Given the description of an element on the screen output the (x, y) to click on. 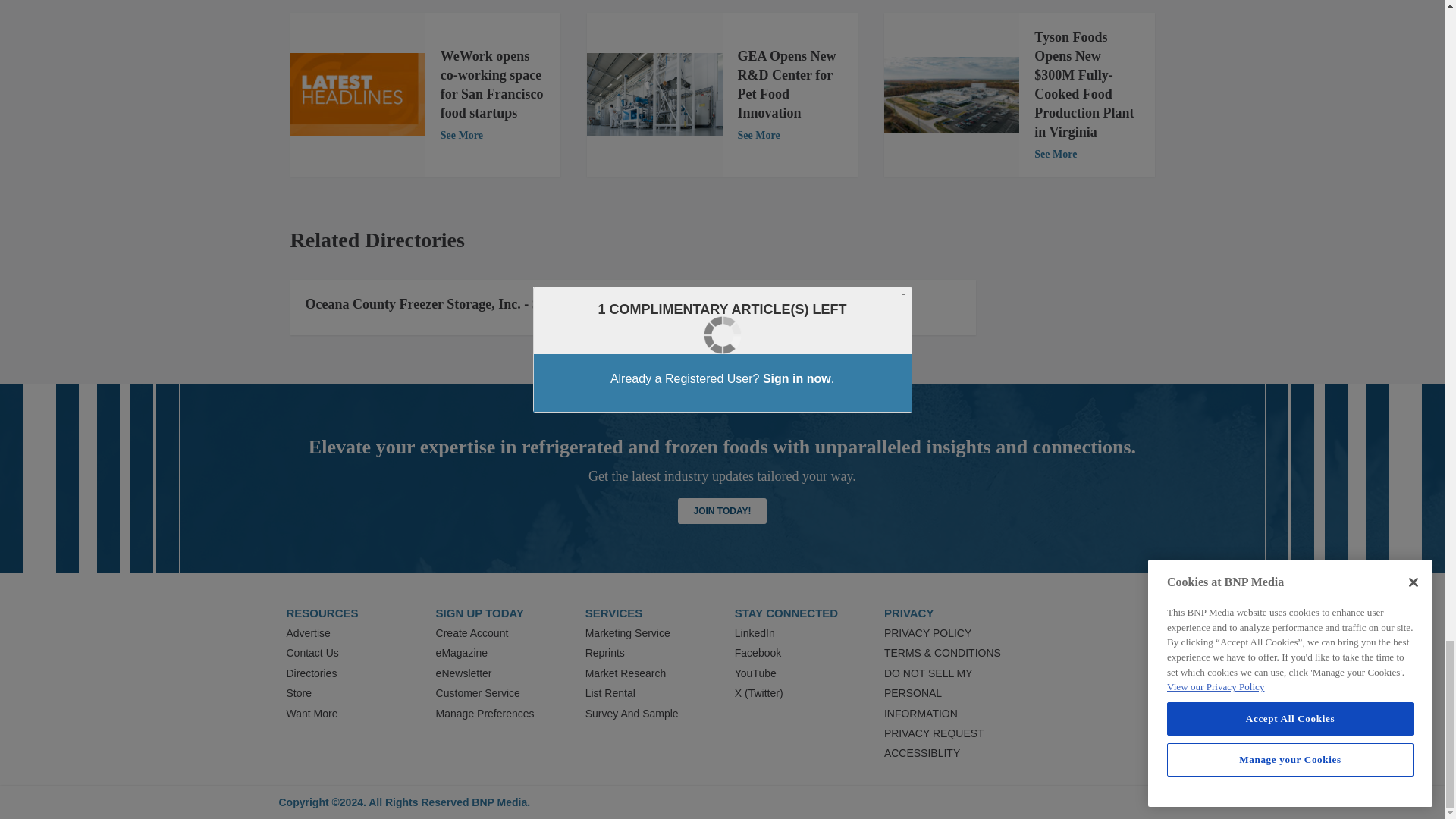
default-Latest-Headlines.jpg (357, 94)
Tyson-chicken-processingplant.jpg (951, 94)
